Given the description of an element on the screen output the (x, y) to click on. 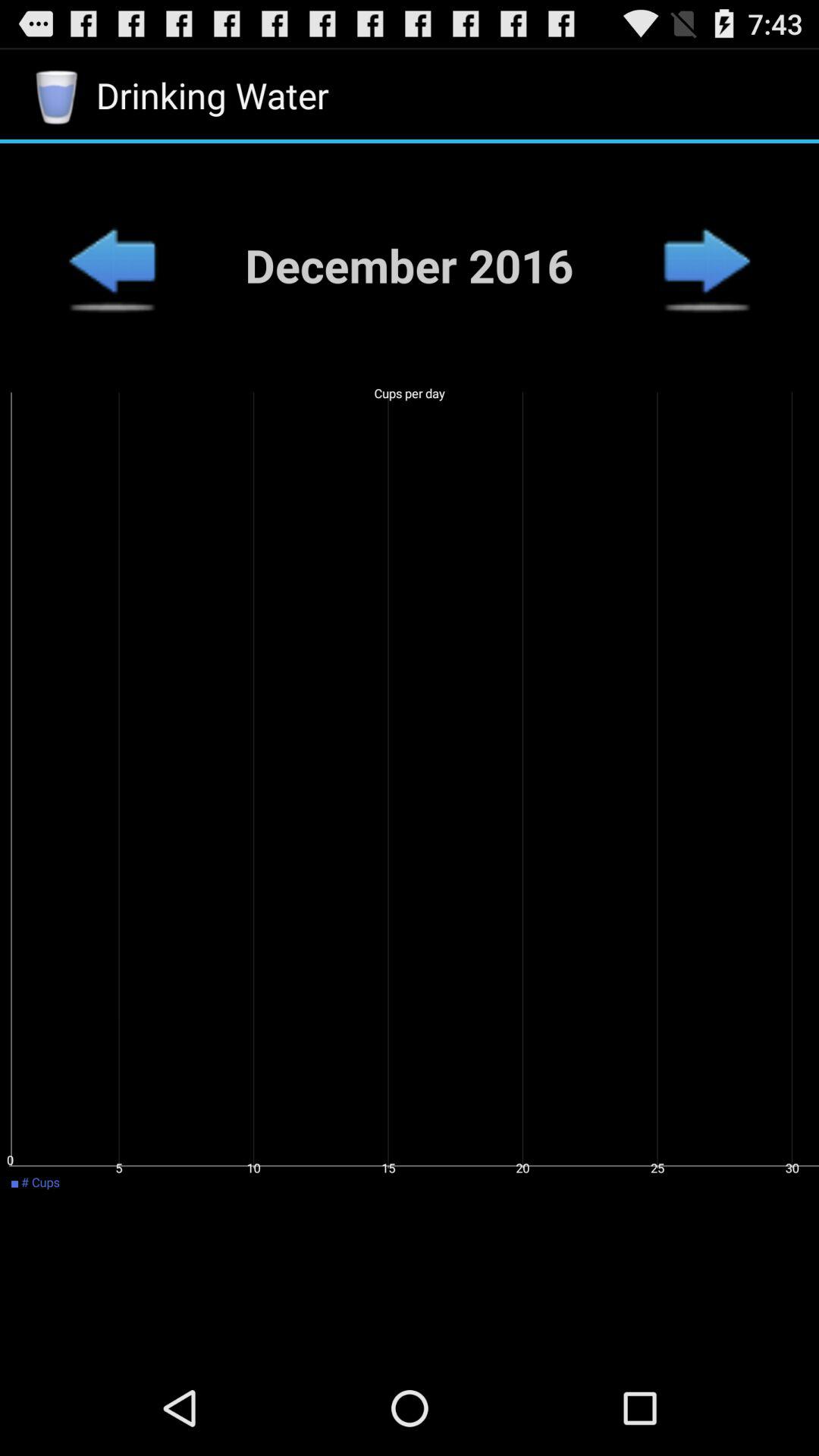
next month (706, 264)
